Given the description of an element on the screen output the (x, y) to click on. 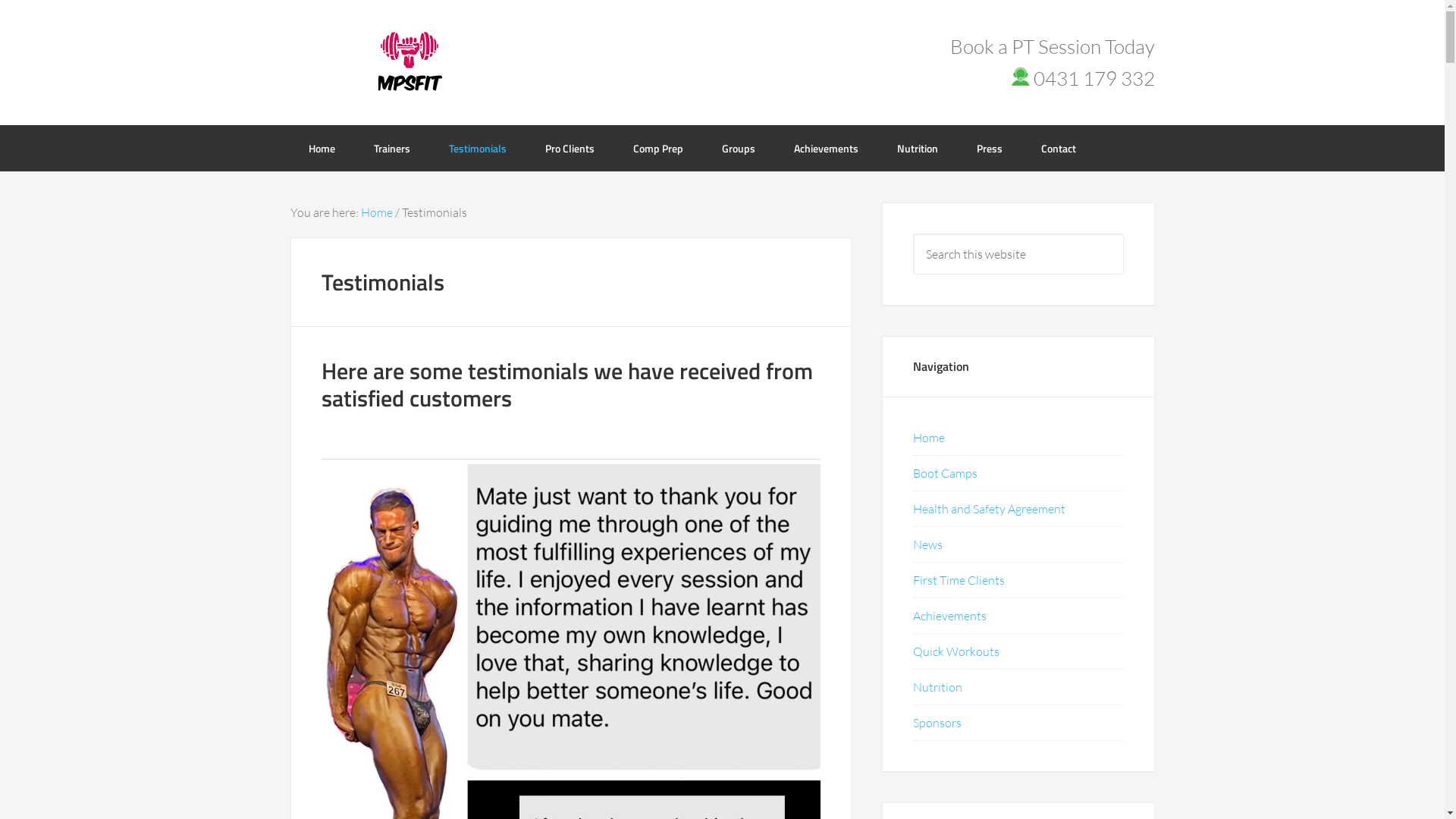
Search Element type: text (1122, 232)
Quick Workouts Element type: text (956, 650)
News Element type: text (927, 544)
MPS Fit Element type: text (410, 60)
Sponsors Element type: text (937, 722)
Home Element type: text (320, 147)
Groups Element type: text (738, 147)
Achievements Element type: text (949, 615)
Home Element type: text (928, 437)
Nutrition Element type: text (937, 686)
Comp Prep Element type: text (657, 147)
Home Element type: text (376, 211)
Nutrition Element type: text (916, 147)
Boot Camps Element type: text (945, 472)
Achievements Element type: text (825, 147)
Trainers Element type: text (390, 147)
Contact Element type: text (1057, 147)
Press Element type: text (989, 147)
First Time Clients Element type: text (958, 579)
Health and Safety Agreement Element type: text (989, 508)
Pro Clients Element type: text (568, 147)
Testimonials Element type: text (477, 147)
